Given the description of an element on the screen output the (x, y) to click on. 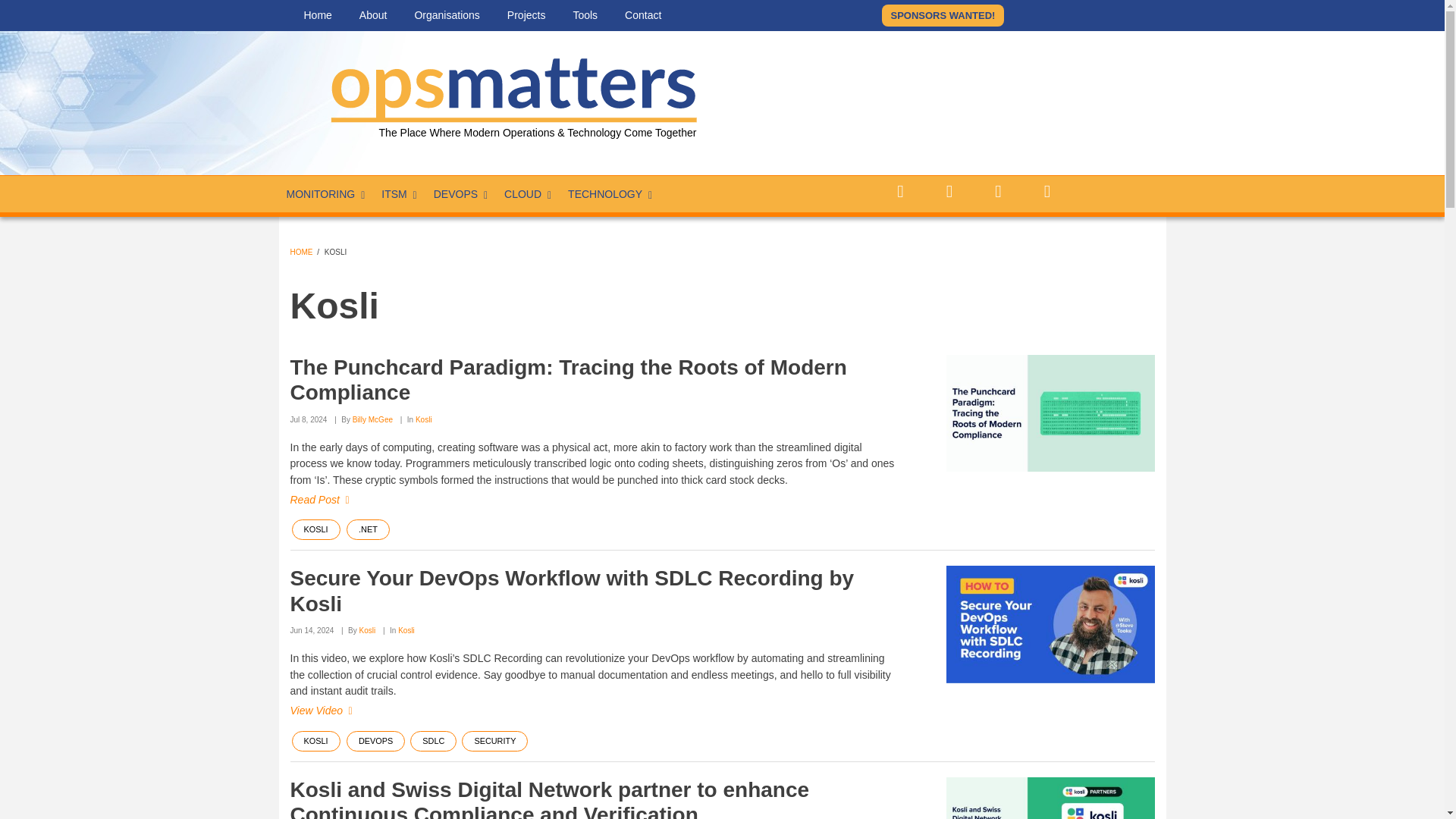
Projects (526, 15)
MONITORING (326, 194)
kosli (1050, 413)
Home (509, 86)
kosli (1050, 797)
Home (317, 15)
DEVOPS (461, 194)
SPONSORS WANTED! (942, 15)
Contact (643, 15)
CLOUD (528, 194)
